Given the description of an element on the screen output the (x, y) to click on. 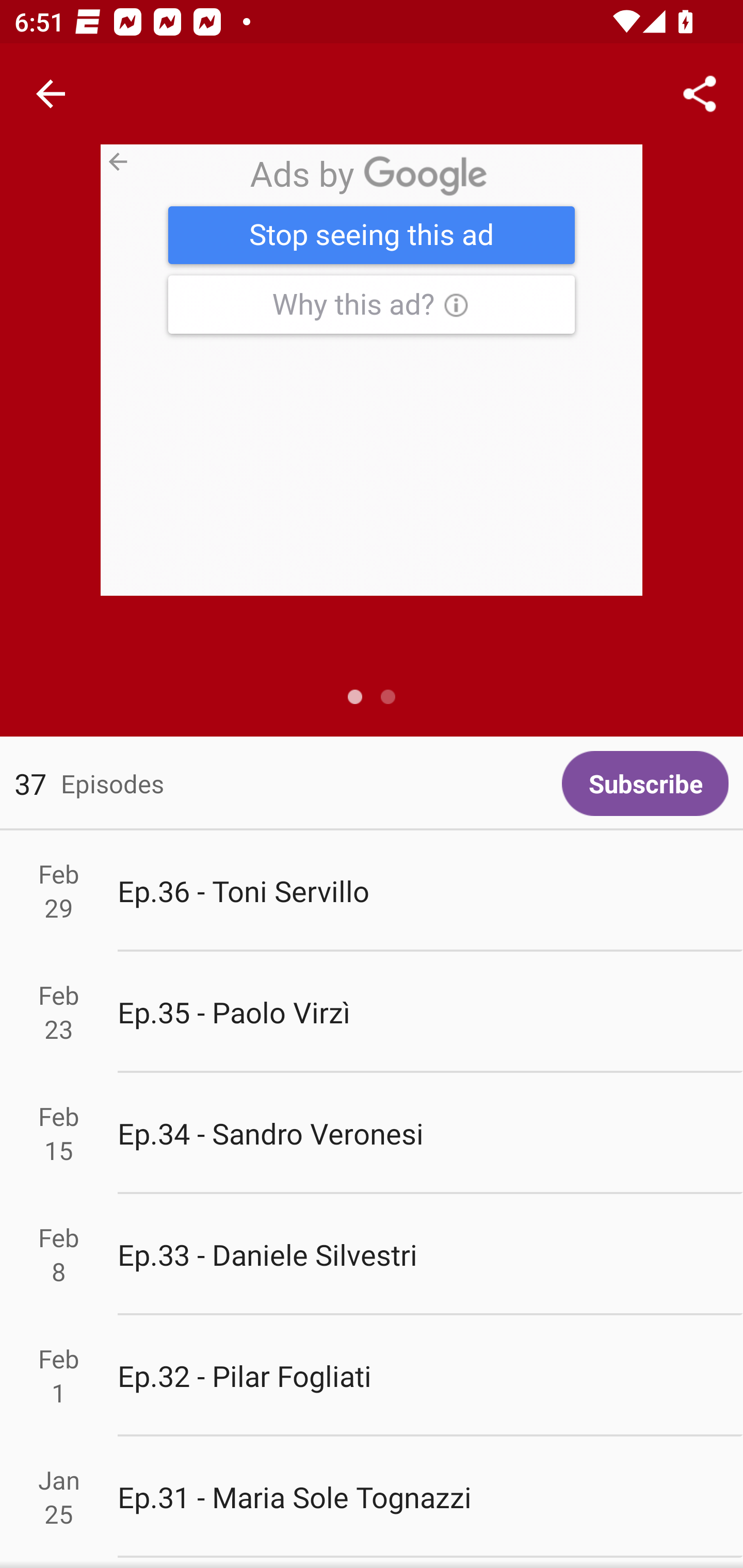
Navigate up (50, 93)
Share... (699, 93)
Subscribe (644, 783)
Feb 29 Ep.36 - Toni Servillo (371, 891)
Feb 23 Ep.35 - Paolo Virzì (371, 1011)
Feb 15 Ep.34 - Sandro Veronesi (371, 1133)
Feb 8 Ep.33 - Daniele Silvestri (371, 1254)
Feb 1 Ep.32 - Pilar Fogliati (371, 1375)
Jan 25 Ep.31 - Maria Sole Tognazzi (371, 1496)
